Given the description of an element on the screen output the (x, y) to click on. 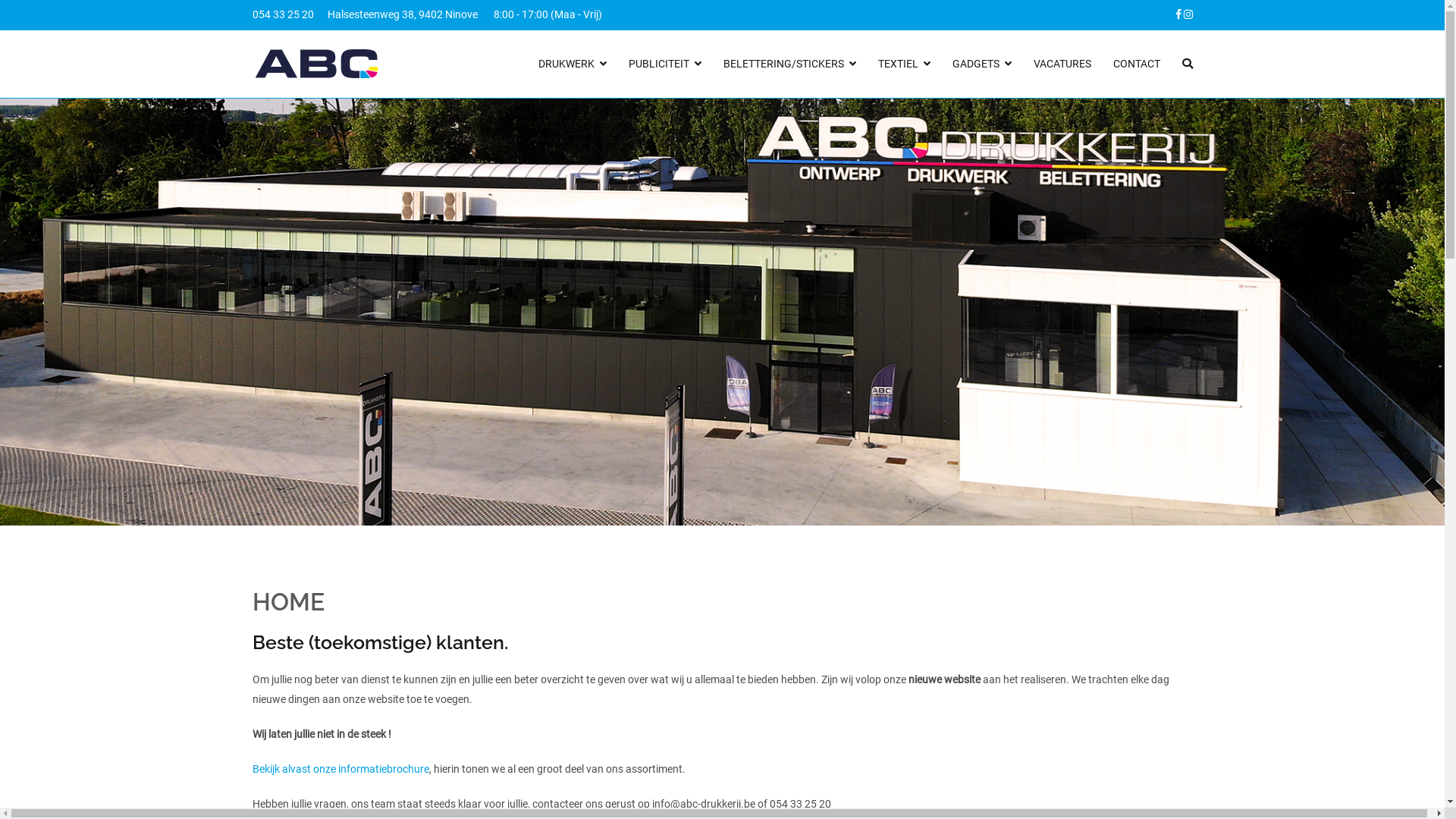
TEXTIEL Element type: text (904, 64)
PUBLICITEIT Element type: text (664, 64)
Zoeken Element type: text (28, 14)
VACATURES Element type: text (1062, 64)
DRUKWERK Element type: text (572, 64)
GADGETS Element type: text (981, 64)
BELETTERING/STICKERS Element type: text (789, 64)
ABC Drukkerij Element type: text (439, 74)
CONTACT Element type: text (1136, 64)
Bekijk alvast onze informatiebrochure Element type: text (339, 768)
